Given the description of an element on the screen output the (x, y) to click on. 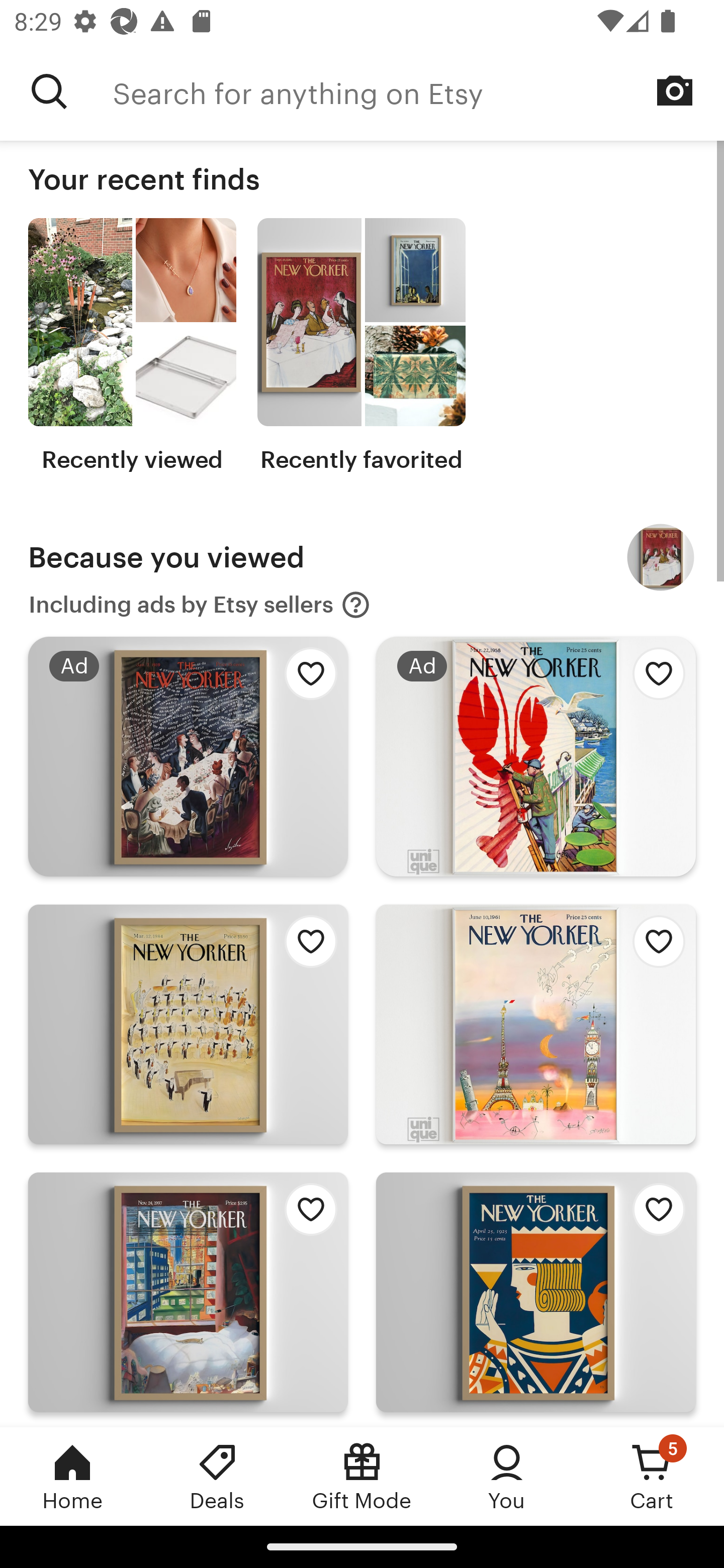
Search for anything on Etsy (49, 91)
Search by image (674, 90)
Search for anything on Etsy (418, 91)
Recently viewed (132, 345)
Recently favorited (361, 345)
Including ads by Etsy sellers (199, 604)
Deals (216, 1475)
Gift Mode (361, 1475)
You (506, 1475)
Cart, 5 new notifications Cart (651, 1475)
